Given the description of an element on the screen output the (x, y) to click on. 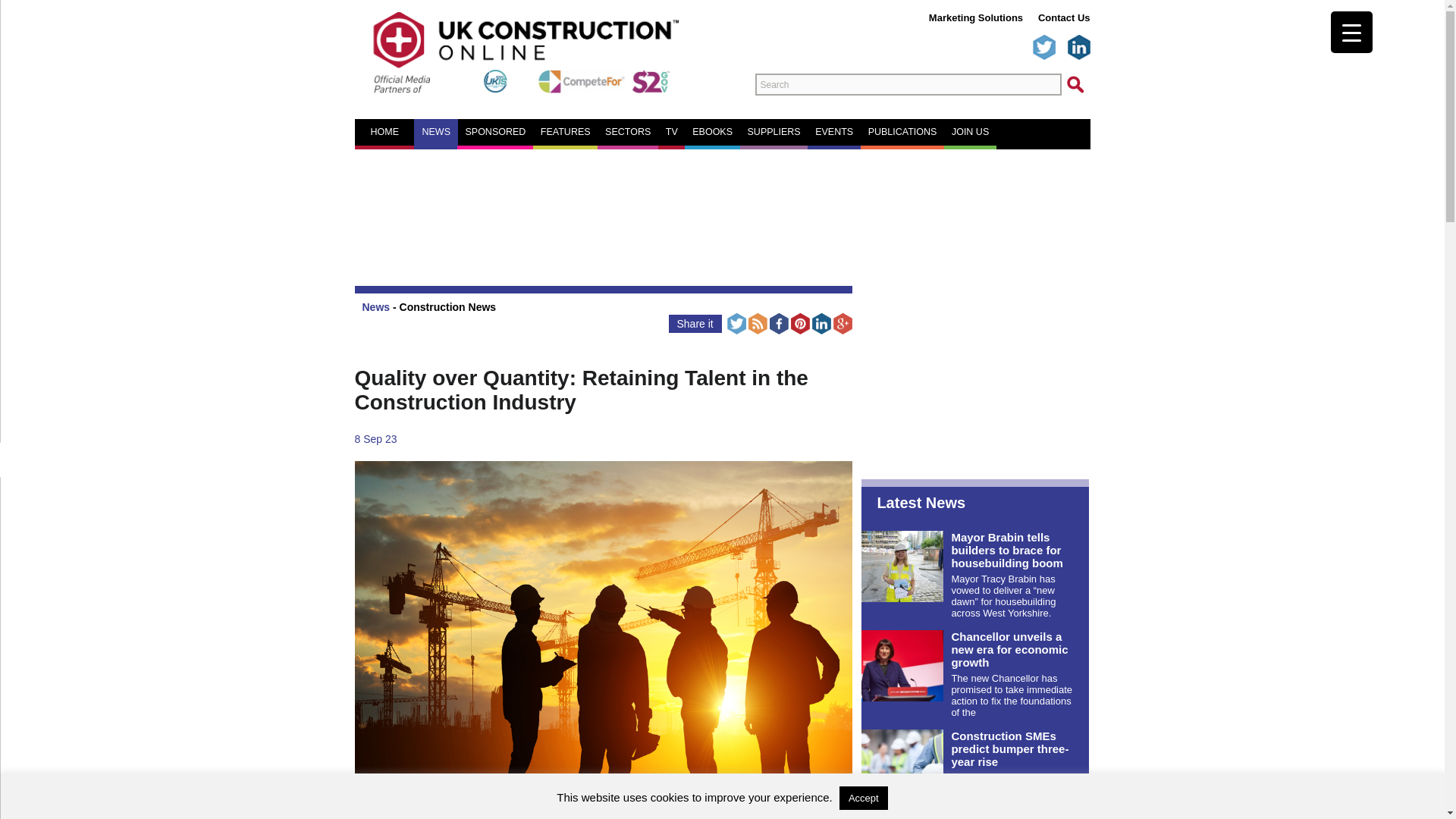
EBOOKS (712, 131)
3rd party ad content (975, 372)
JOIN US (970, 131)
FEATURES (565, 131)
PUBLICATIONS (902, 131)
NEWS (435, 131)
Contact Us (1064, 17)
SECTORS (627, 131)
Marketing Solutions (975, 17)
3rd party ad content (722, 209)
TV (671, 131)
Search (908, 84)
Construction News (913, 498)
Search (22, 459)
HOME (383, 131)
